Given the description of an element on the screen output the (x, y) to click on. 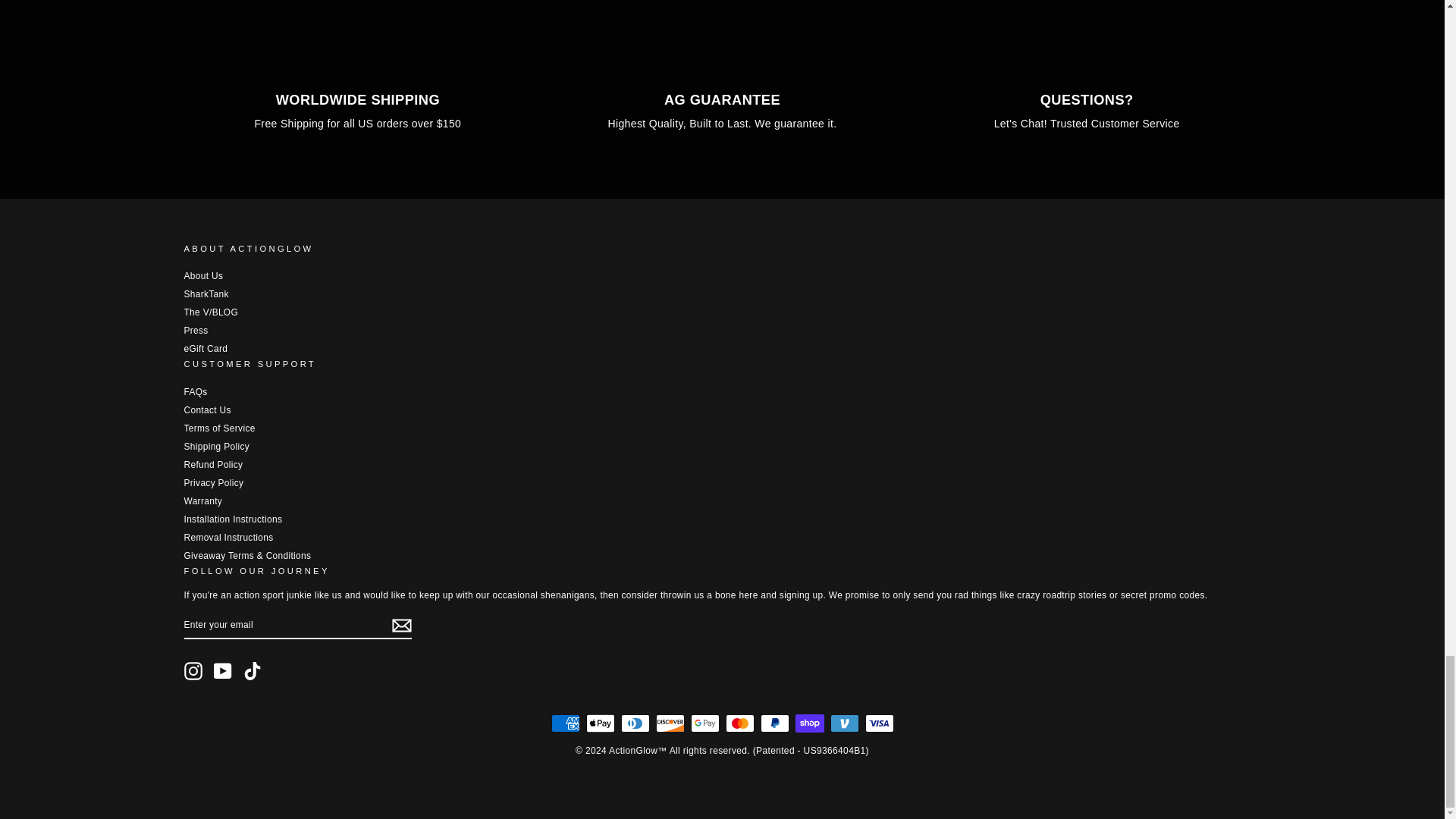
Shop Pay (809, 723)
Google Pay (704, 723)
American Express (564, 723)
PayPal (774, 723)
Discover (669, 723)
Mastercard (739, 723)
Venmo (844, 723)
Apple Pay (599, 723)
Diners Club (634, 723)
Visa (878, 723)
